Given the description of an element on the screen output the (x, y) to click on. 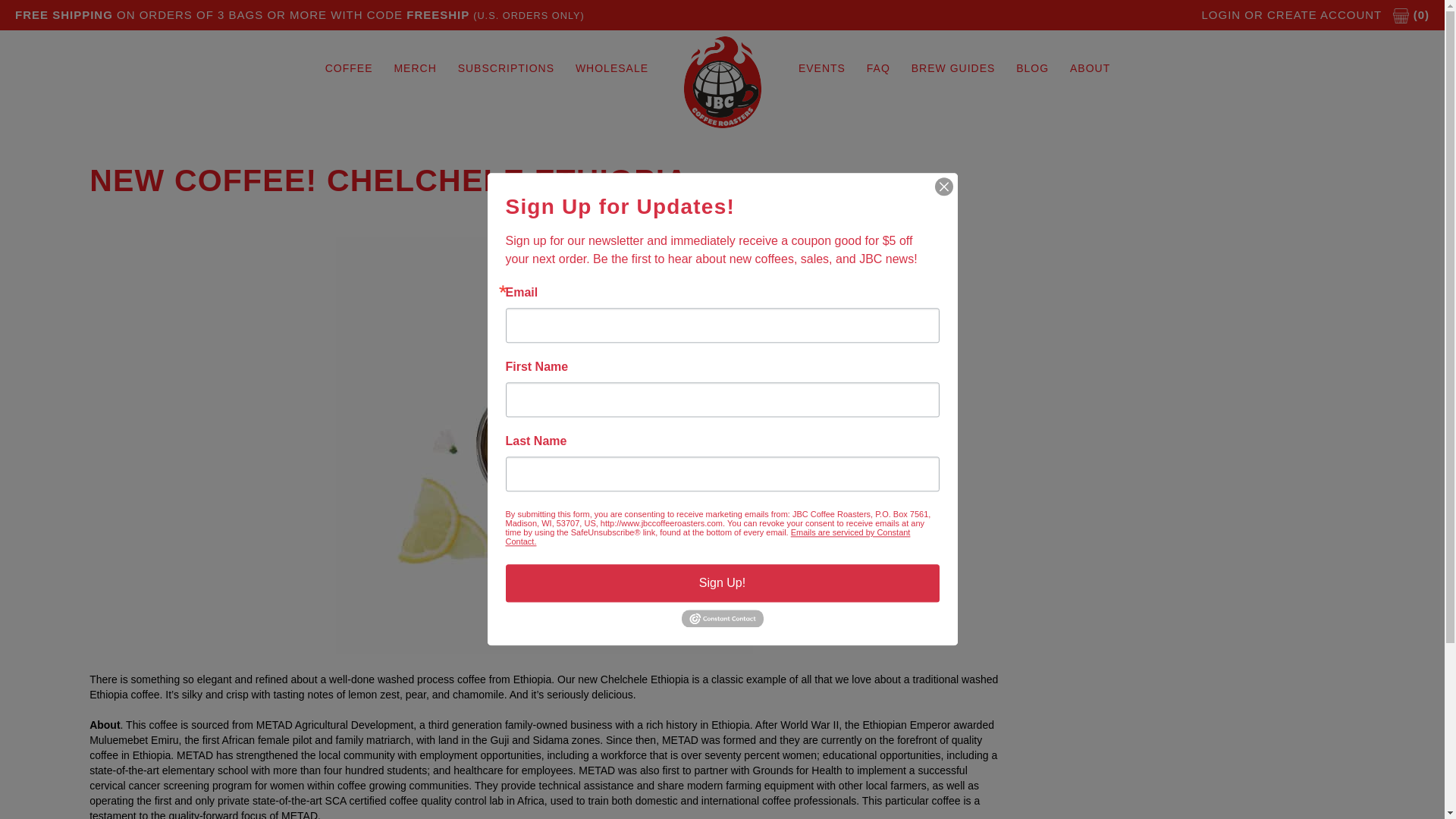
Subscriptions (505, 68)
Blog (1032, 68)
Merch (414, 68)
About (1090, 68)
Close (943, 186)
Coffee (348, 68)
Sign Up! (722, 582)
LOGIN OR CREATE ACCOUNT (1290, 14)
BLOG (1032, 68)
BREW GUIDES (953, 68)
FAQ (878, 68)
WHOLESALE (612, 68)
Wholesale (612, 68)
Brew Guides (953, 68)
ABOUT (1090, 68)
